Given the description of an element on the screen output the (x, y) to click on. 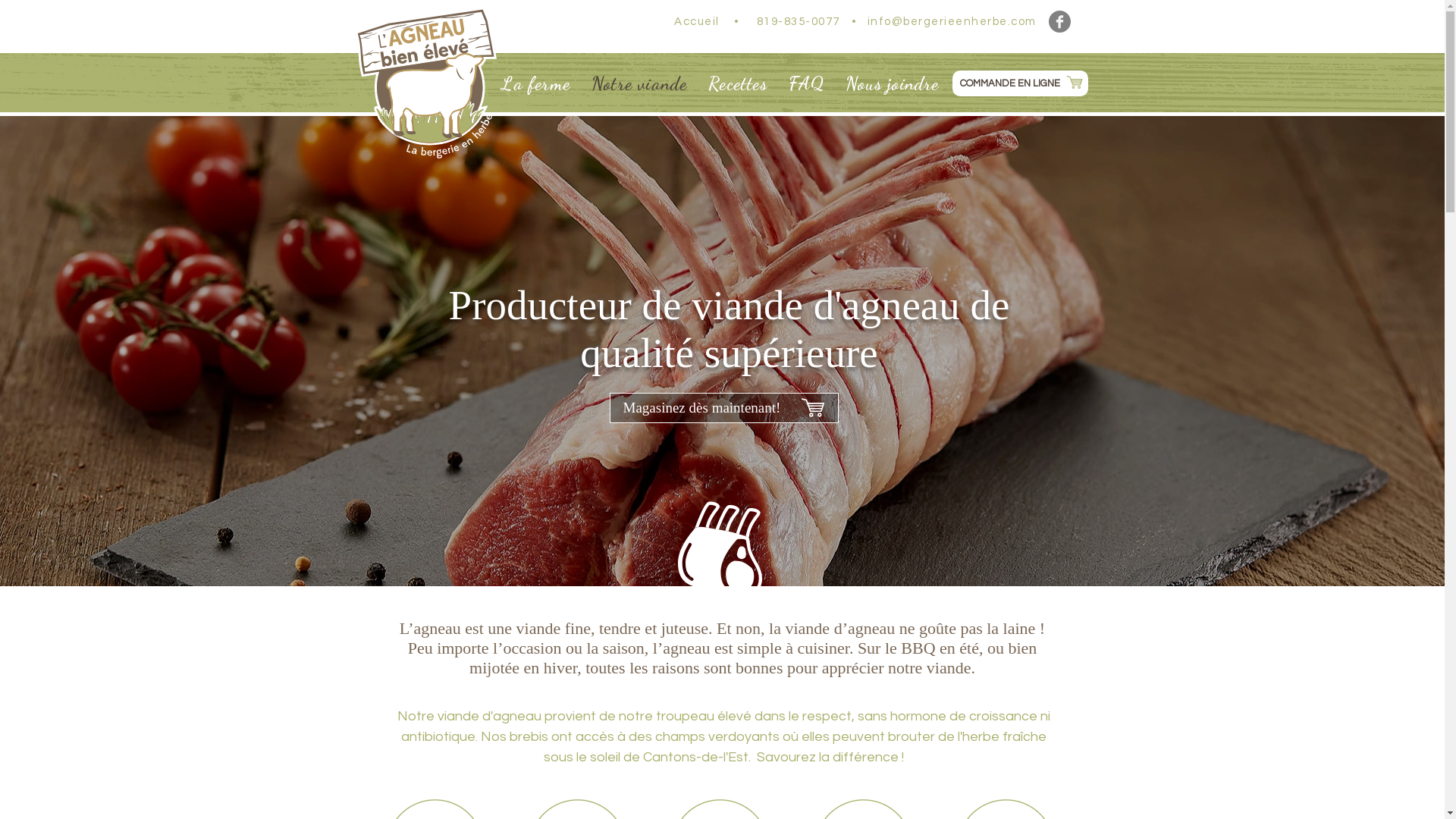
FAQ Element type: text (806, 83)
info@bergerieenherbe.com Element type: text (951, 21)
819-835-0077 Element type: text (798, 21)
Recettes Element type: text (737, 83)
COMMANDE EN LIGNE Element type: text (1020, 83)
Accueil Element type: text (696, 21)
Nous joindre Element type: text (891, 83)
Notre viande Element type: text (638, 83)
La ferme Element type: text (535, 83)
